Given the description of an element on the screen output the (x, y) to click on. 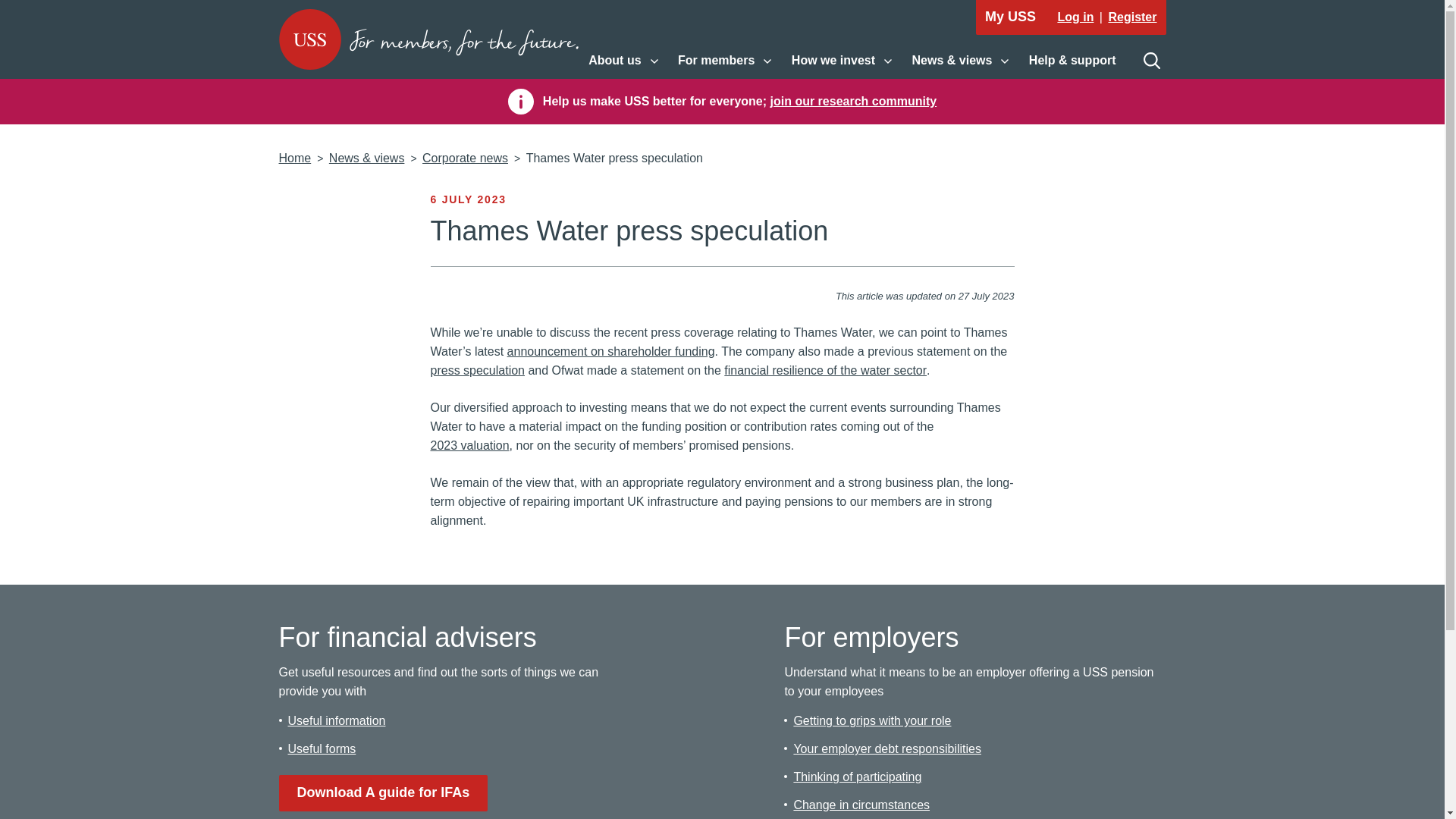
financial resilience of the water sector (824, 370)
Open search (1151, 60)
announcement on shareholder funding (610, 351)
join our research community (853, 101)
Thinking of participating (857, 776)
Corporate news (465, 157)
Downloads or opens in a new window (383, 792)
2023 valuation (724, 60)
Useful forms (469, 445)
Getting to grips with your role (322, 748)
USS - Homepage (622, 60)
Your employer debt responsibilities (871, 720)
Useful information (428, 39)
